Given the description of an element on the screen output the (x, y) to click on. 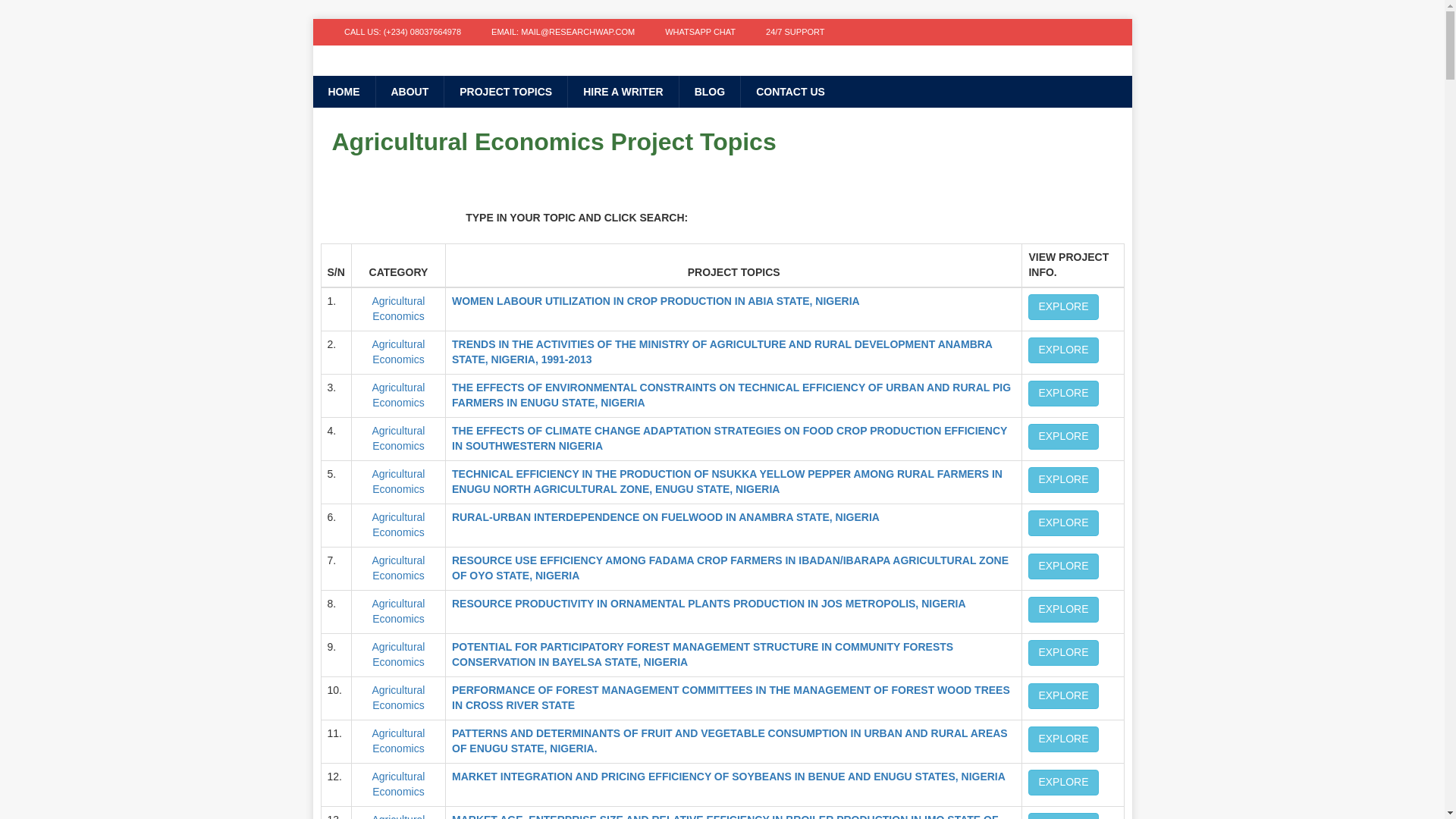
EXPLORE (1062, 350)
WHATSAPP CHAT (700, 31)
HOME (343, 91)
Agricultural Economics (398, 394)
Agricultural Economics (398, 567)
BLOG (708, 91)
